Given the description of an element on the screen output the (x, y) to click on. 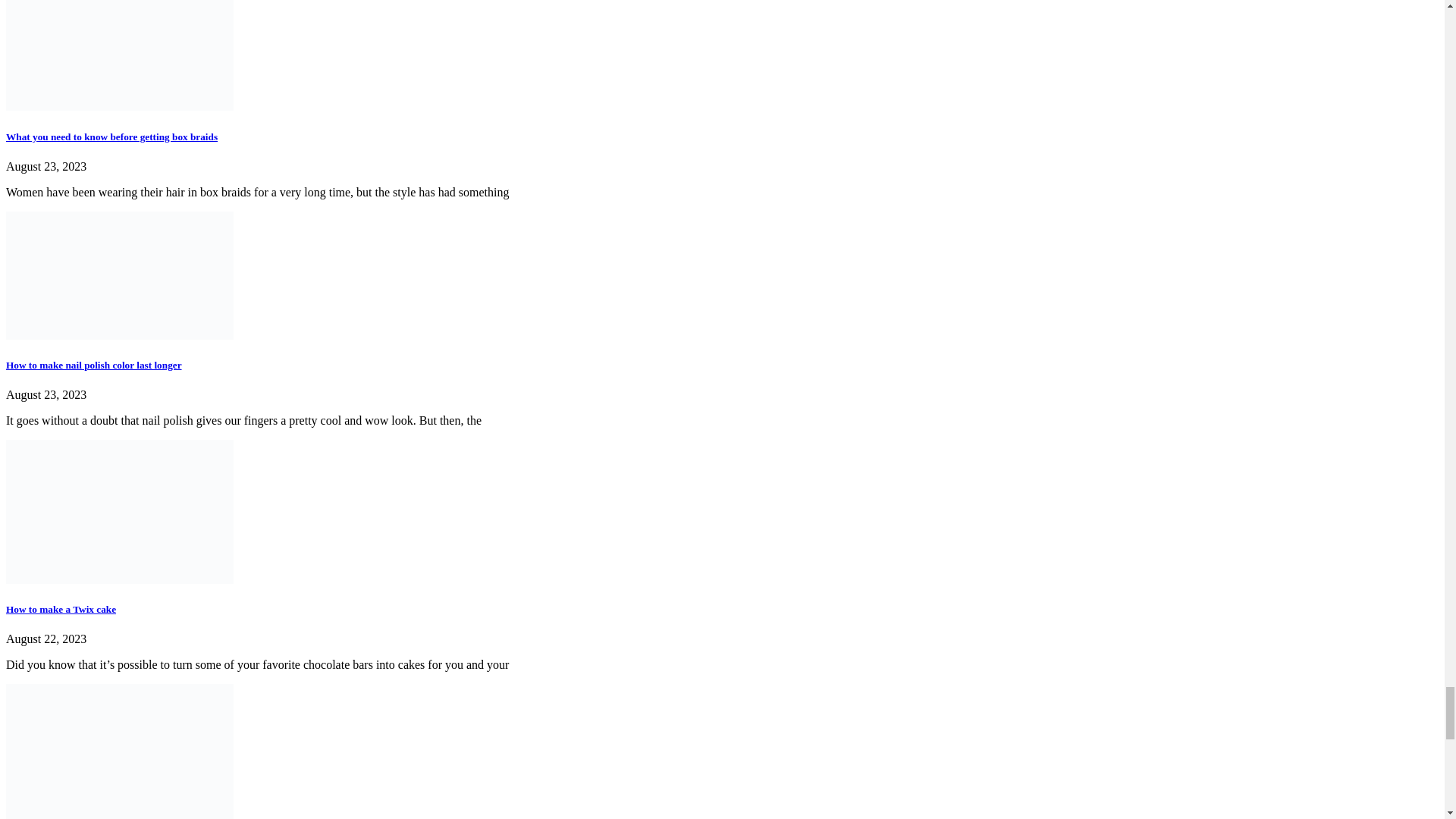
What you need to know before getting box braids (110, 136)
